Given the description of an element on the screen output the (x, y) to click on. 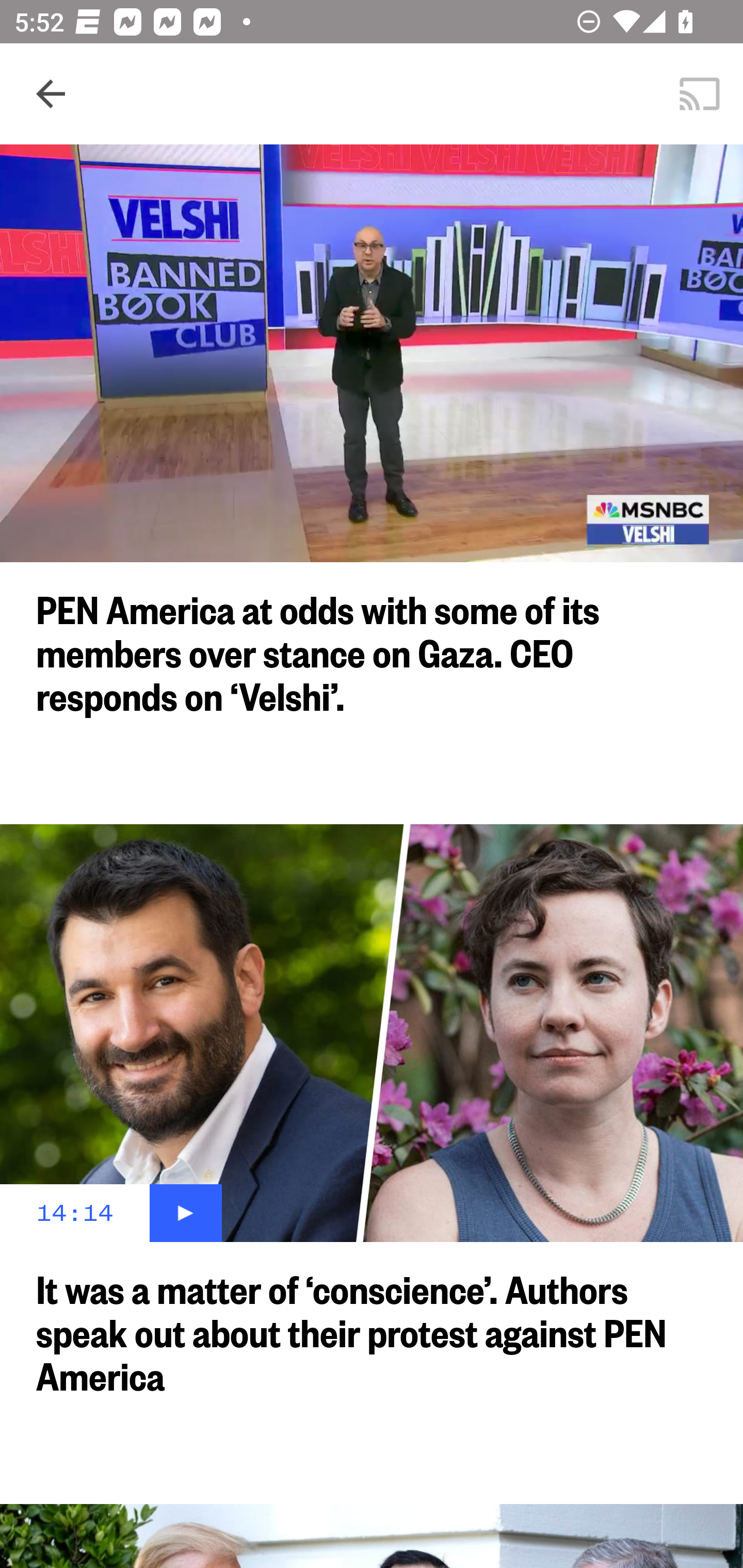
Navigate up (50, 93)
Cast. Disconnected (699, 93)
